Given the description of an element on the screen output the (x, y) to click on. 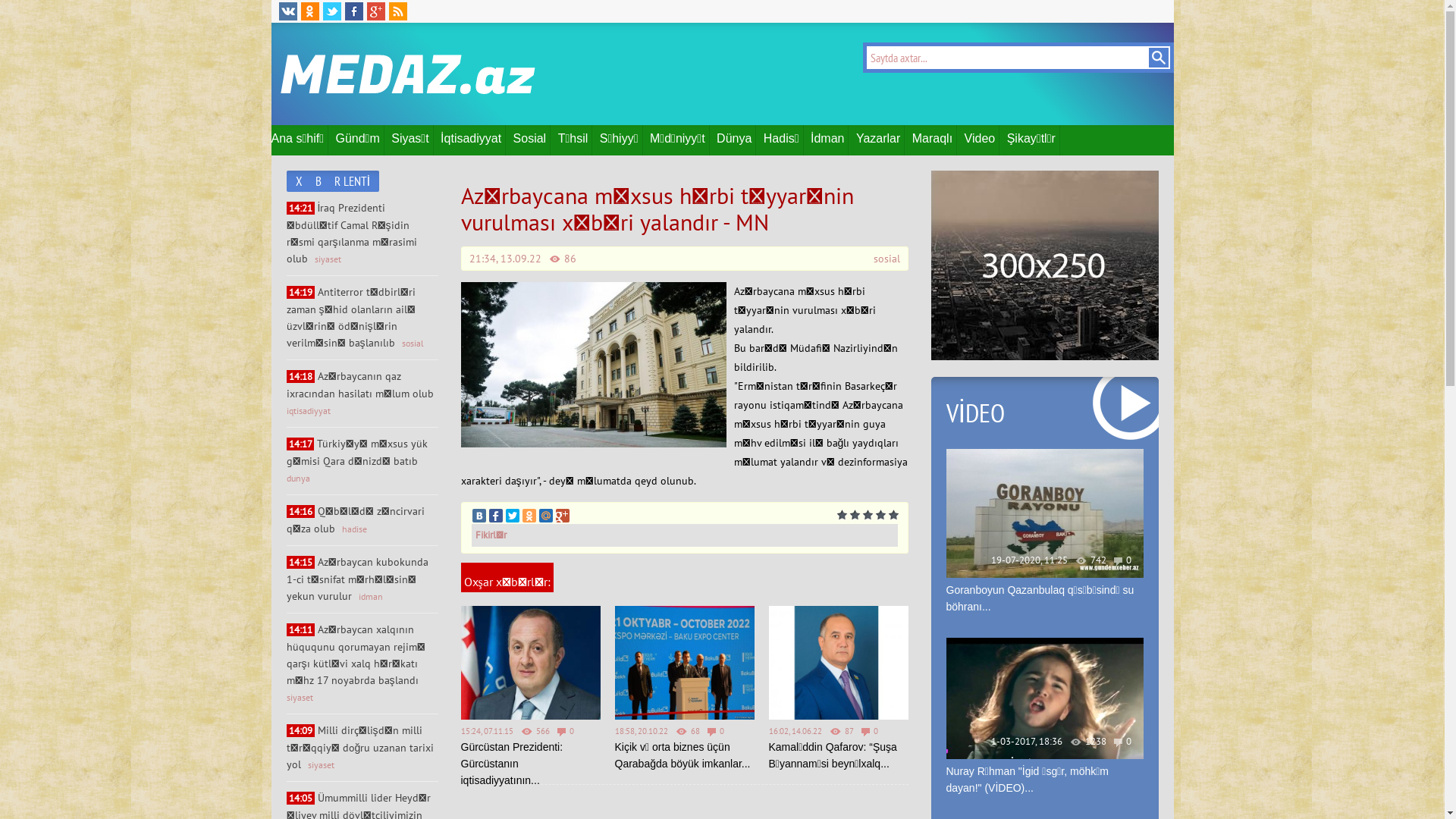
3 Element type: text (867, 514)
siyaset Element type: text (326, 258)
VK Element type: hover (288, 11)
Sosial Element type: text (532, 140)
siyaset Element type: text (320, 764)
2 Element type: text (853, 514)
OK.RU Element type: hover (309, 11)
RSS Element type: hover (397, 11)
5 Element type: text (893, 514)
Video Element type: text (982, 140)
iqtisadiyyat Element type: text (308, 410)
Facebook Element type: hover (495, 514)
1 Element type: text (841, 514)
Google Plus Element type: hover (376, 11)
Google Plus Element type: hover (561, 514)
sosial Element type: text (412, 342)
Twitter Element type: hover (511, 514)
dunya Element type: text (298, 477)
Twitter Element type: hover (332, 11)
hadise Element type: text (353, 528)
siyaset Element type: text (299, 696)
Yazarlar Element type: text (880, 140)
idman Element type: text (369, 596)
Facebook Element type: hover (353, 11)
4 Element type: text (879, 514)
